Given the description of an element on the screen output the (x, y) to click on. 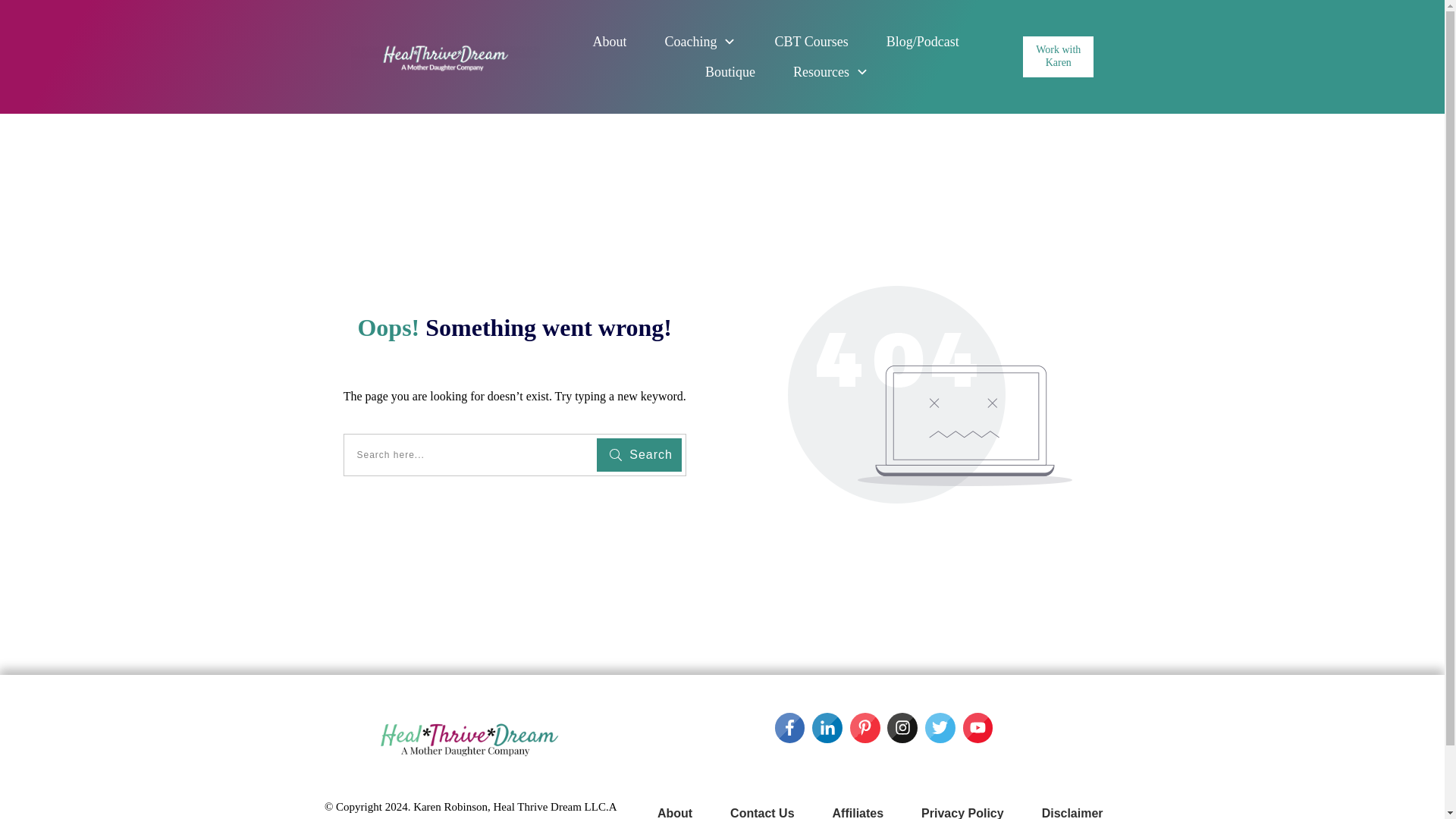
Affiliates (857, 810)
Boutique (729, 71)
Work with Karen (1058, 56)
CBT Courses (810, 41)
Privacy Policy (962, 810)
About (609, 41)
Coaching (699, 41)
About (675, 810)
Contact Us (761, 810)
Search (638, 454)
